Given the description of an element on the screen output the (x, y) to click on. 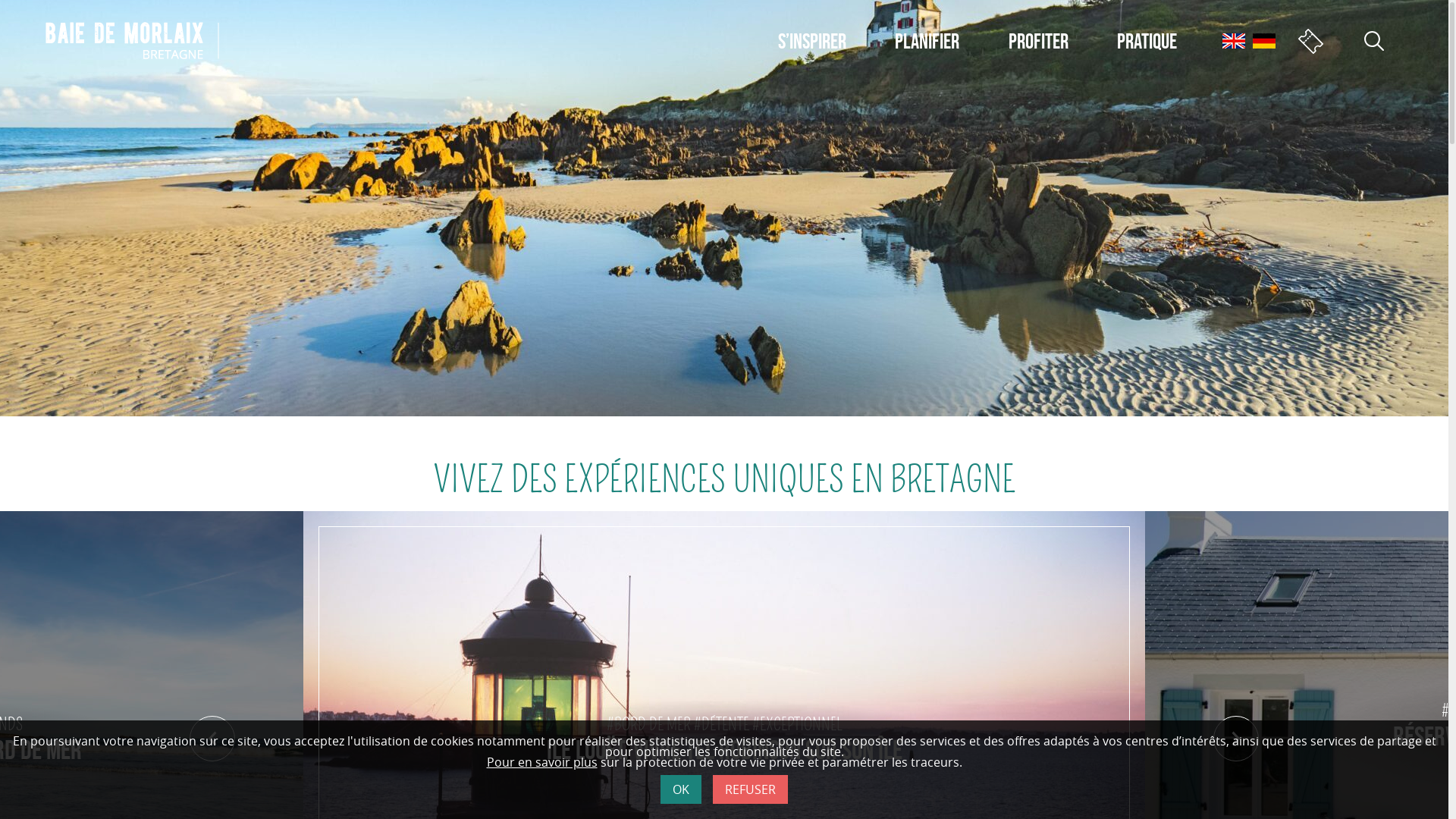
Previous Element type: text (212, 739)
Pour en savoir plus Element type: text (541, 762)
Lien vers la page de billetterie Element type: hover (1310, 40)
OK Element type: text (680, 789)
PROFITER Element type: text (1038, 41)
Next Element type: text (1235, 739)
PLANIFIER Element type: text (927, 41)
Baie de Morlaix Bretagne - Bienvenue en Baie de Morlaix ! Element type: hover (132, 39)
PRATIQUE Element type: text (1146, 41)
REFUSER Element type: text (749, 789)
